Given the description of an element on the screen output the (x, y) to click on. 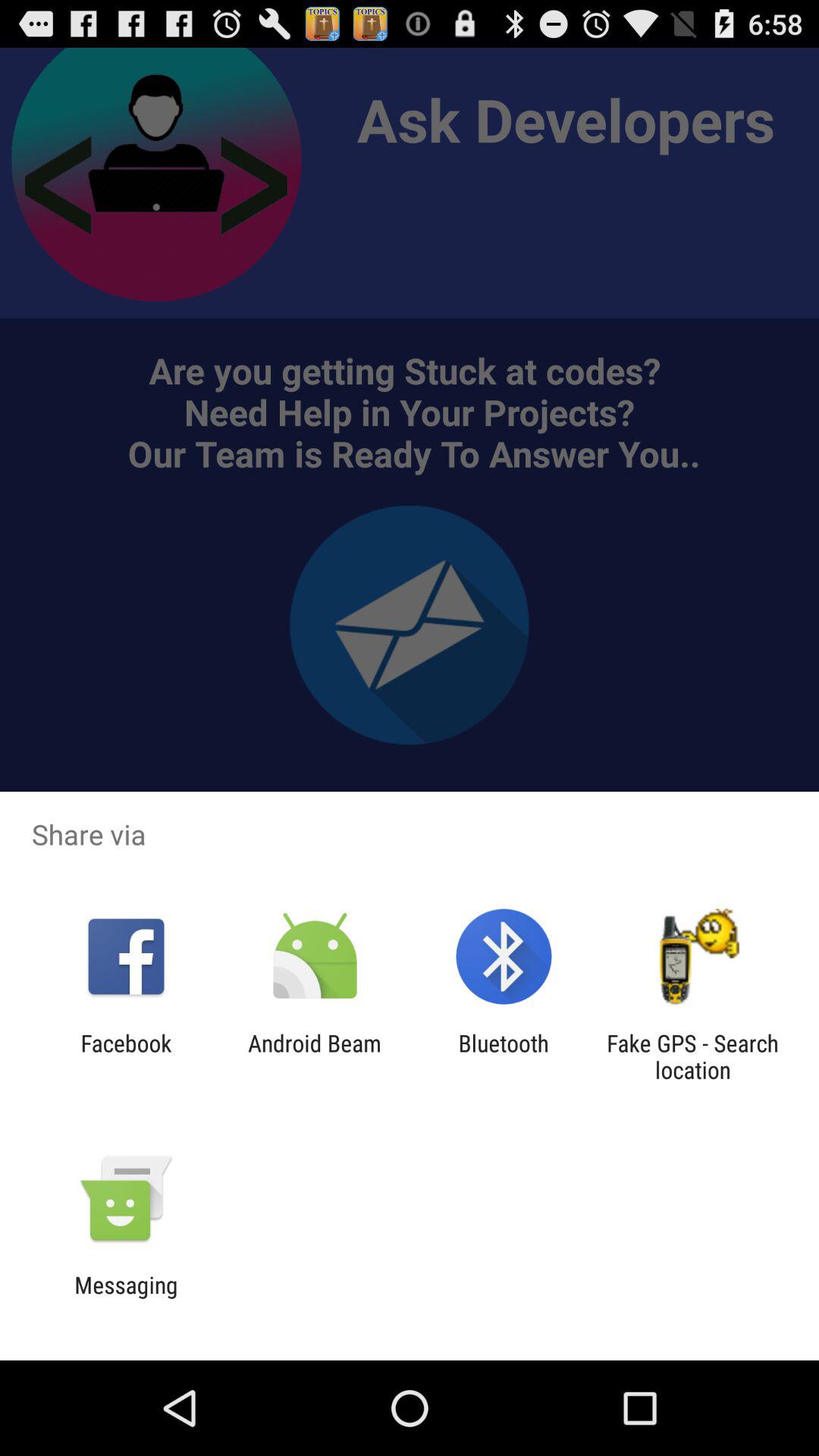
turn off icon to the right of facebook app (314, 1056)
